Given the description of an element on the screen output the (x, y) to click on. 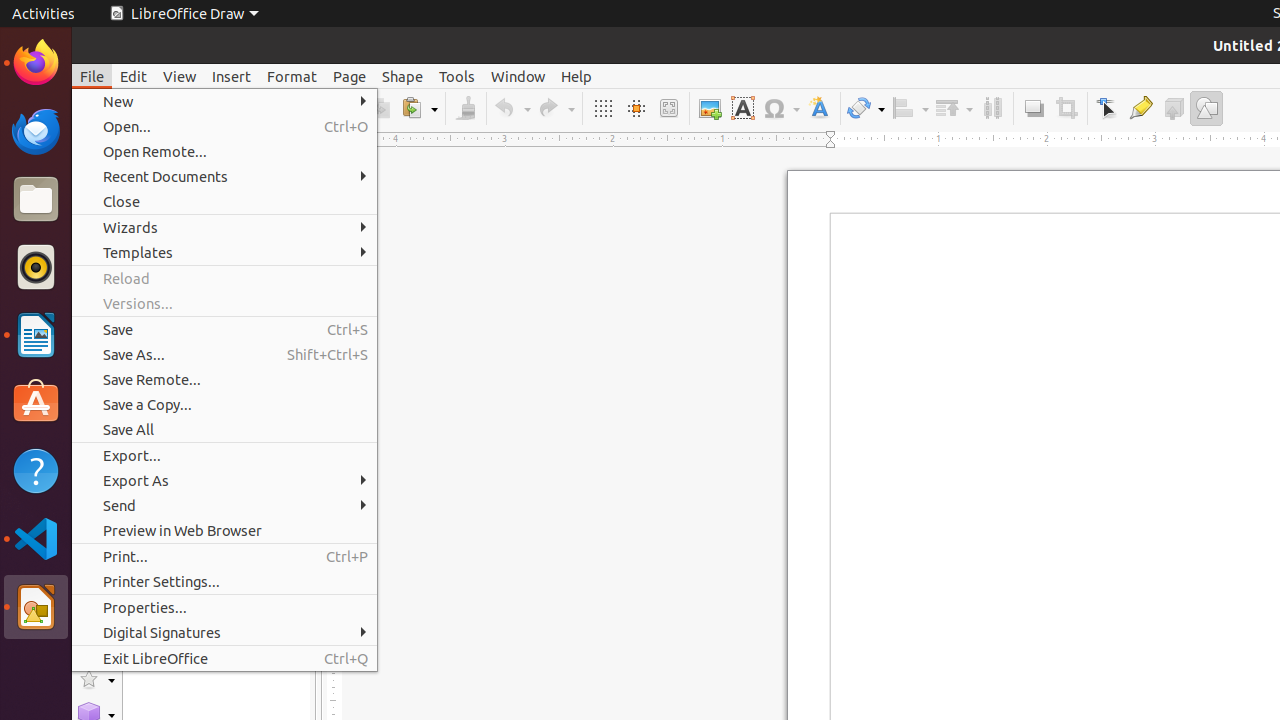
Arrange Element type: push-button (954, 108)
Wizards Element type: menu (224, 227)
Distribution Element type: push-button (992, 108)
Exit LibreOffice Element type: menu-item (224, 658)
Save Element type: menu-item (224, 329)
